Given the description of an element on the screen output the (x, y) to click on. 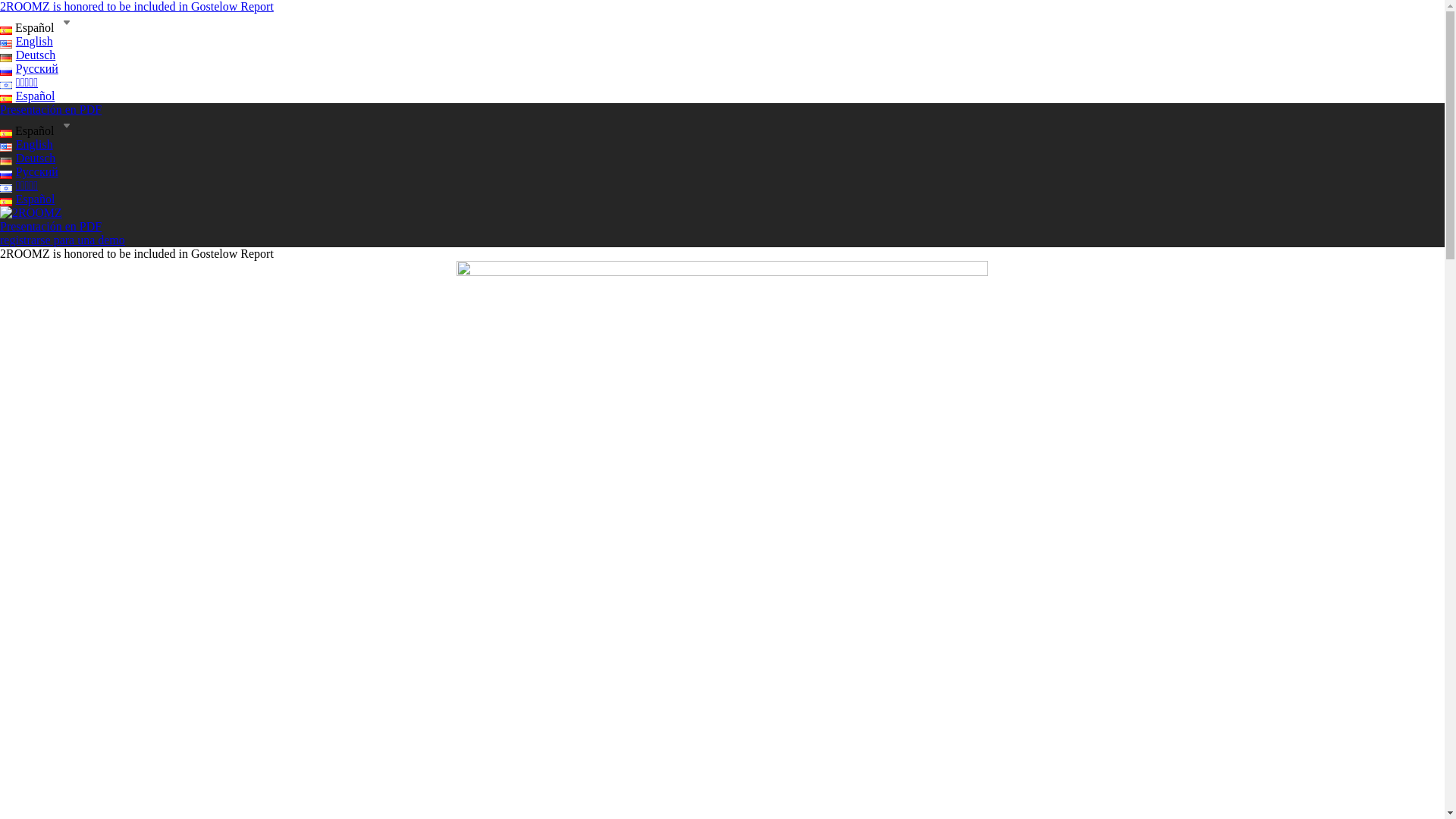
English Element type: text (26, 144)
2ROOMZ is honored to be included in Gostelow Report Element type: text (136, 6)
English Element type: text (26, 40)
Deutsch Element type: text (27, 54)
registrarse para una demo Element type: text (62, 239)
Deutsch Element type: text (27, 157)
